Given the description of an element on the screen output the (x, y) to click on. 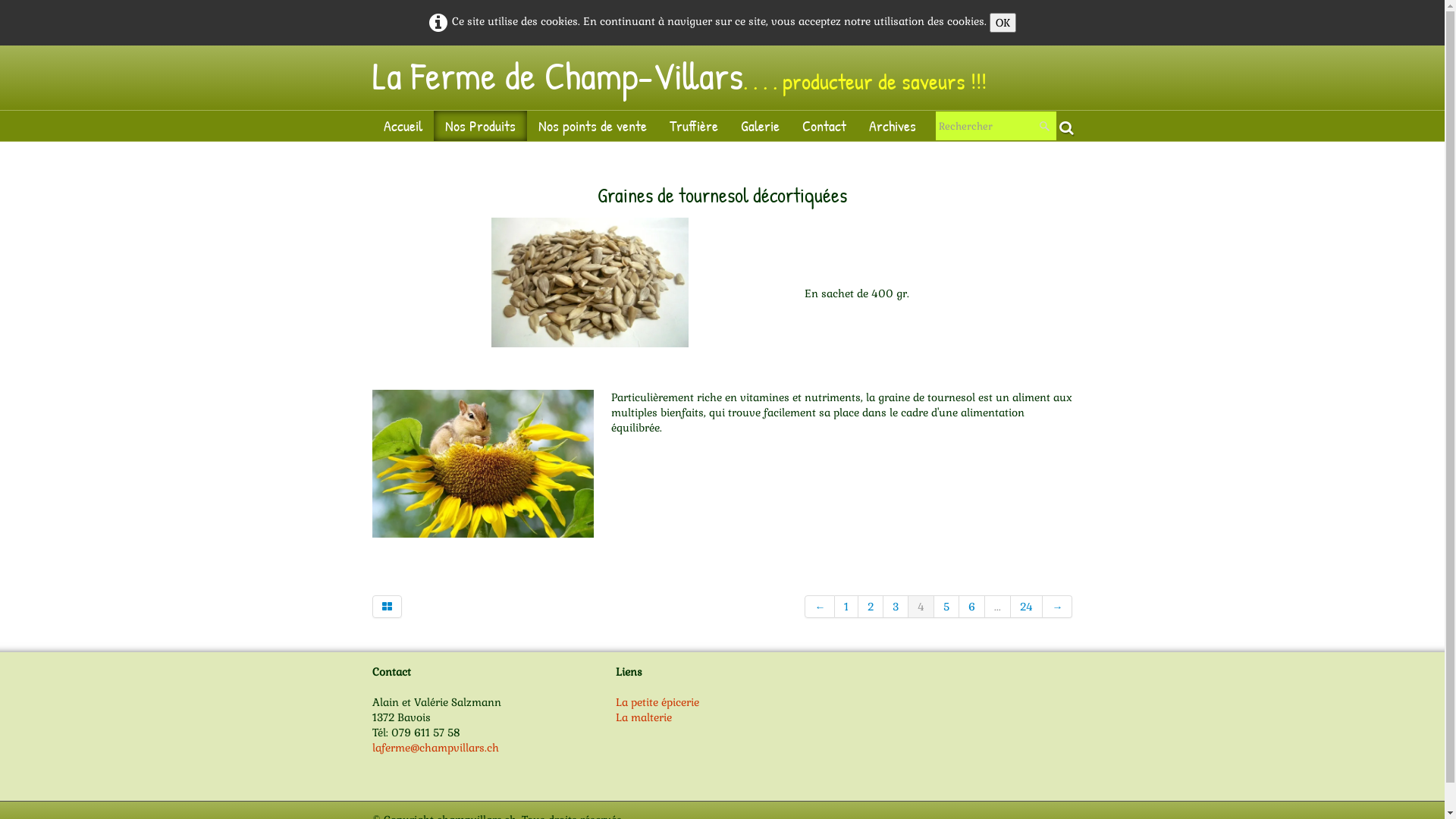
laferme@champvillars.ch Element type: text (434, 747)
Accueil Element type: text (402, 125)
4 Element type: text (921, 606)
OK Element type: text (1001, 22)
24 Element type: text (1026, 606)
Archives Element type: text (891, 125)
Contact Element type: text (823, 125)
6 Element type: text (972, 606)
Nos Produits Element type: text (480, 125)
3 Element type: text (895, 606)
Galerie Element type: text (759, 125)
1 Element type: text (846, 606)
La Ferme de Champ-Villars. . . . producteur de saveurs !!! Element type: text (684, 76)
5 Element type: text (946, 606)
La malterie Element type: text (643, 717)
... Element type: text (997, 606)
2 Element type: text (870, 606)
Nos points de vente Element type: text (591, 125)
